Given the description of an element on the screen output the (x, y) to click on. 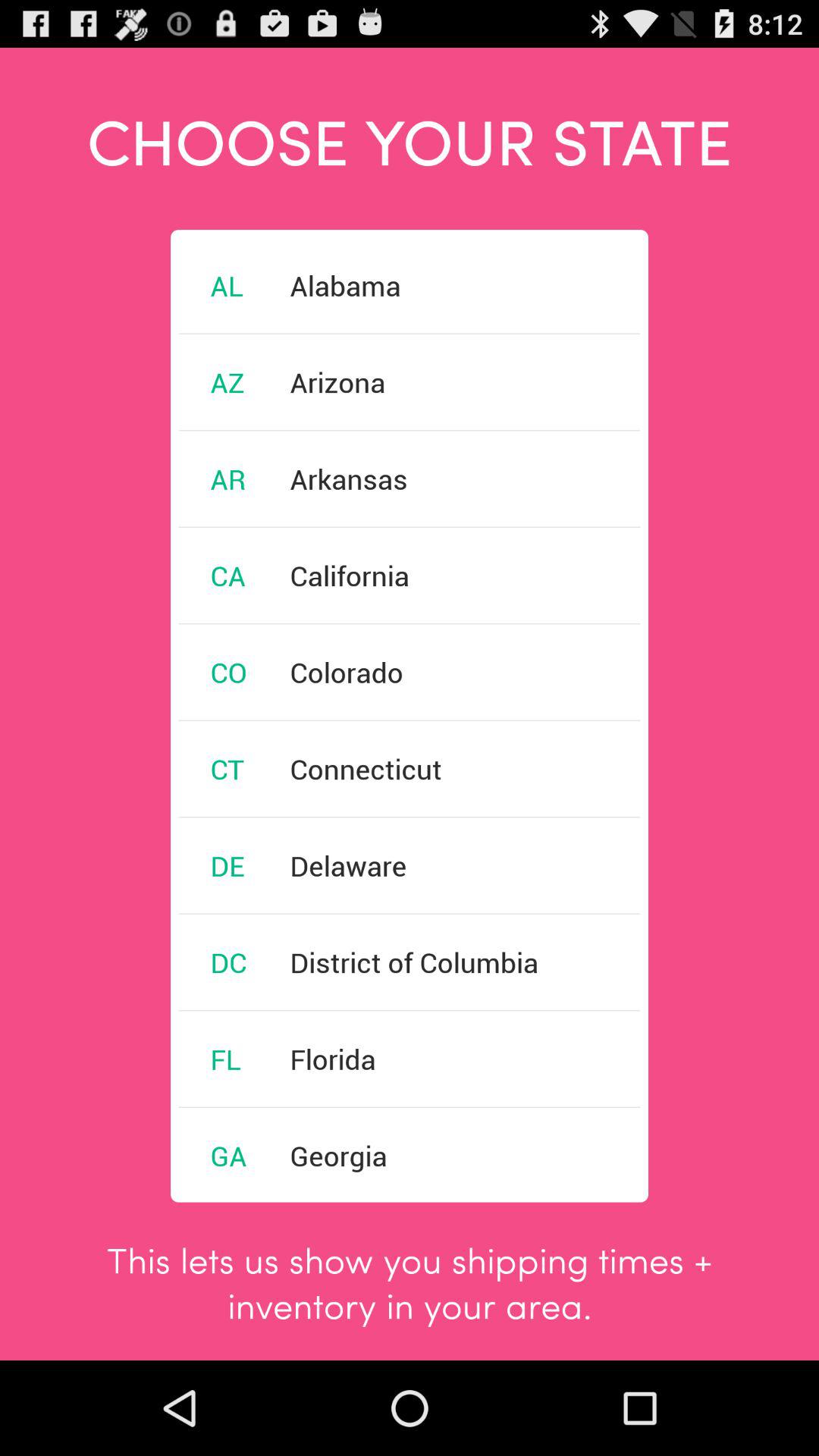
choose item above the fl item (228, 962)
